Given the description of an element on the screen output the (x, y) to click on. 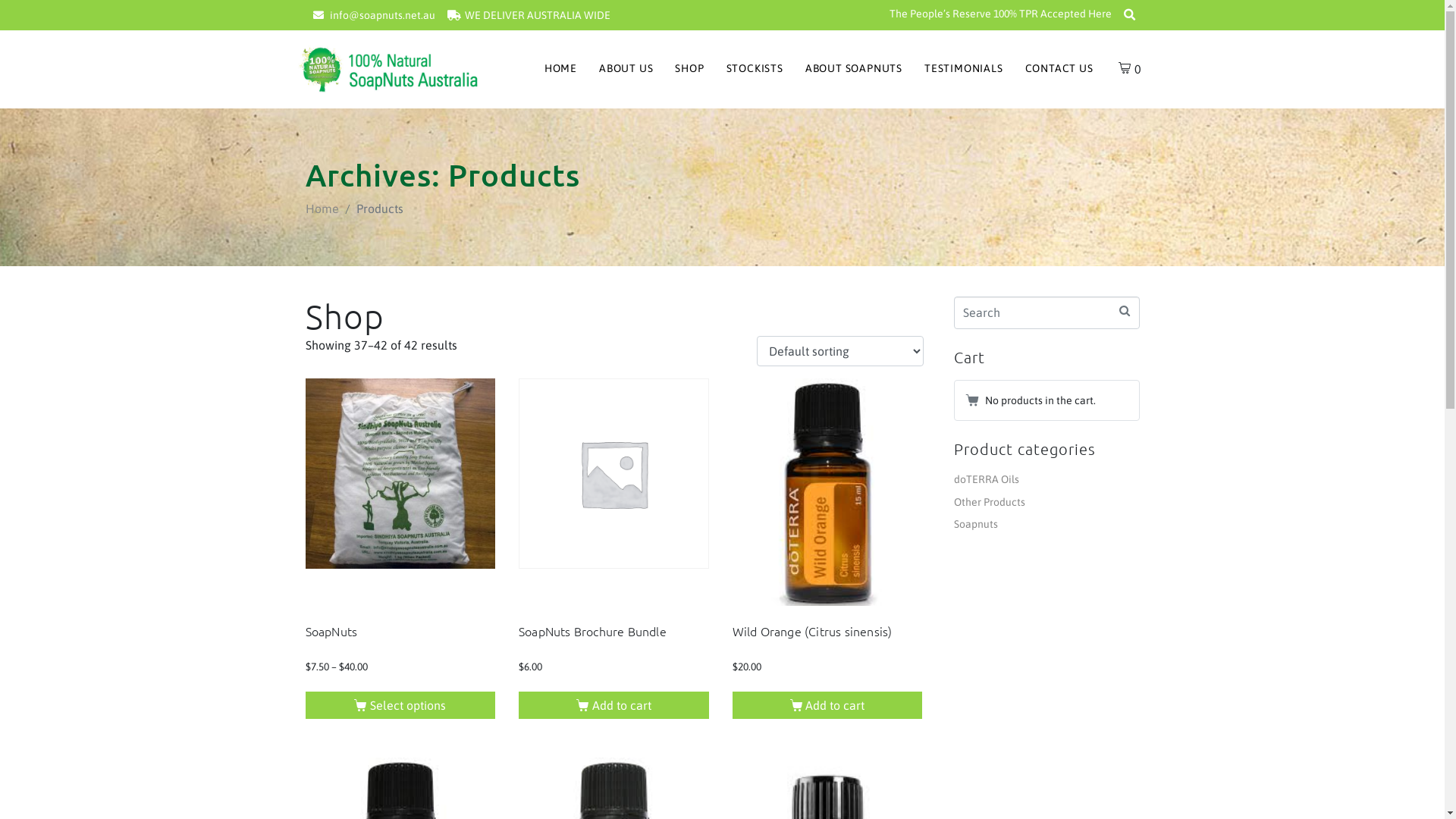
Add to cart Element type: text (827, 704)
Other Products Element type: text (989, 501)
ABOUT US Element type: text (625, 68)
SoapNuts Brochure Bundle
$6.00 Element type: text (613, 542)
Soapnuts Element type: text (975, 523)
Add to cart Element type: text (613, 704)
SHOP Element type: text (689, 68)
doTERRA Oils Element type: text (986, 479)
Select options Element type: text (399, 704)
Wild Orange (Citrus sinensis)
$20.00 Element type: text (827, 542)
info@soapnuts.net.au Element type: text (373, 15)
ABOUT SOAPNUTS Element type: text (853, 68)
0 Element type: text (1129, 68)
TESTIMONIALS Element type: text (963, 68)
CONTACT US Element type: text (1059, 68)
Home Element type: text (321, 208)
HOME Element type: text (560, 68)
STOCKISTS Element type: text (754, 68)
